Given the description of an element on the screen output the (x, y) to click on. 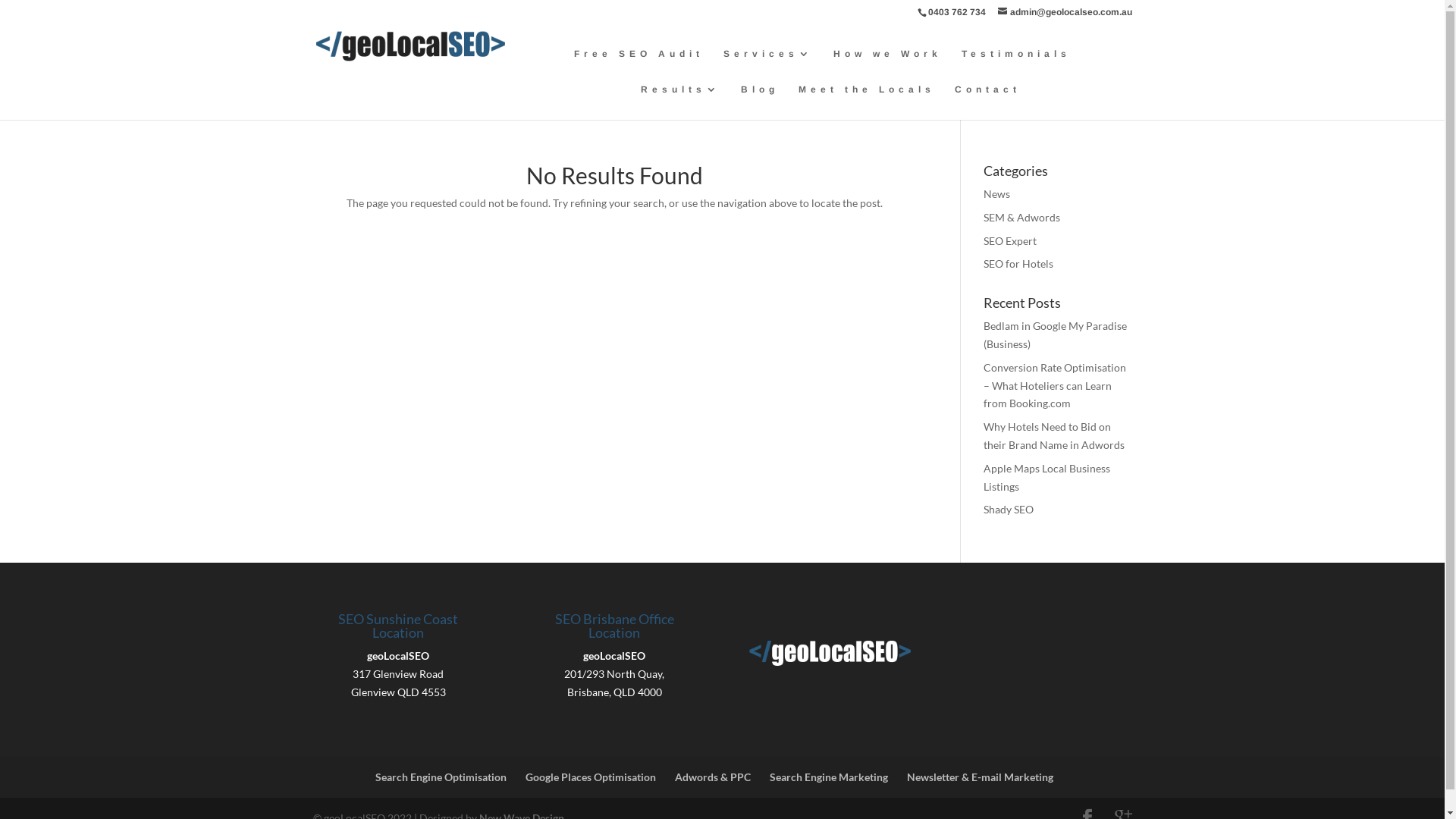
Contact Element type: text (987, 101)
Google Places Optimisation Element type: text (589, 776)
Search Engine Marketing Element type: text (827, 776)
Blog Element type: text (759, 101)
Search Engine Optimisation Element type: text (439, 776)
How we Work Element type: text (887, 66)
Services Element type: text (768, 66)
Apple Maps Local Business Listings Element type: text (1046, 476)
SEO for Hotels Element type: text (1018, 263)
Bedlam in Google My Paradise (Business) Element type: text (1054, 334)
SEO Expert Element type: text (1009, 240)
Testimonials Element type: text (1015, 66)
News Element type: text (996, 193)
Newsletter & E-mail Marketing Element type: text (979, 776)
Adwords & PPC Element type: text (712, 776)
Results Element type: text (680, 101)
Why Hotels Need to Bid on their Brand Name in Adwords Element type: text (1053, 435)
Meet the Locals Element type: text (866, 101)
Free SEO Audit Element type: text (638, 66)
admin@geolocalseo.com.au Element type: text (1064, 11)
SEM & Adwords Element type: text (1021, 216)
Shady SEO Element type: text (1008, 508)
